Given the description of an element on the screen output the (x, y) to click on. 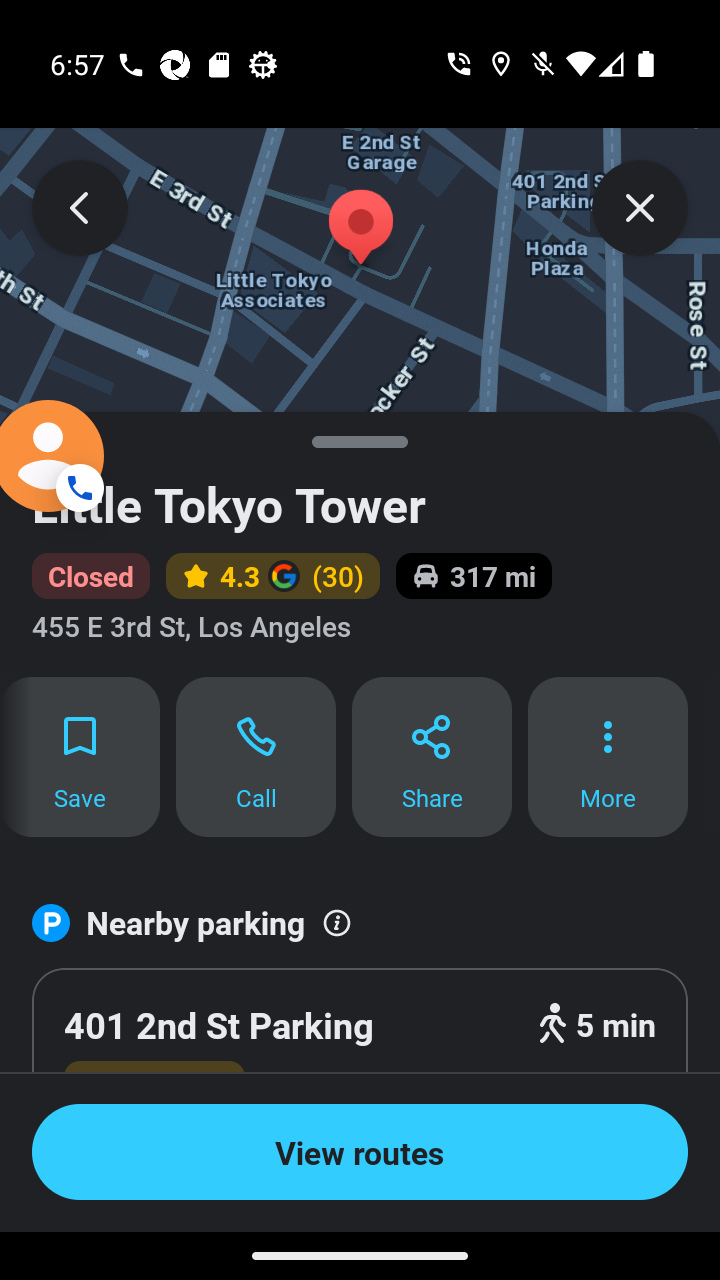
Save (79, 757)
Call (255, 757)
Share (431, 757)
More (607, 757)
View routes (359, 1151)
